Given the description of an element on the screen output the (x, y) to click on. 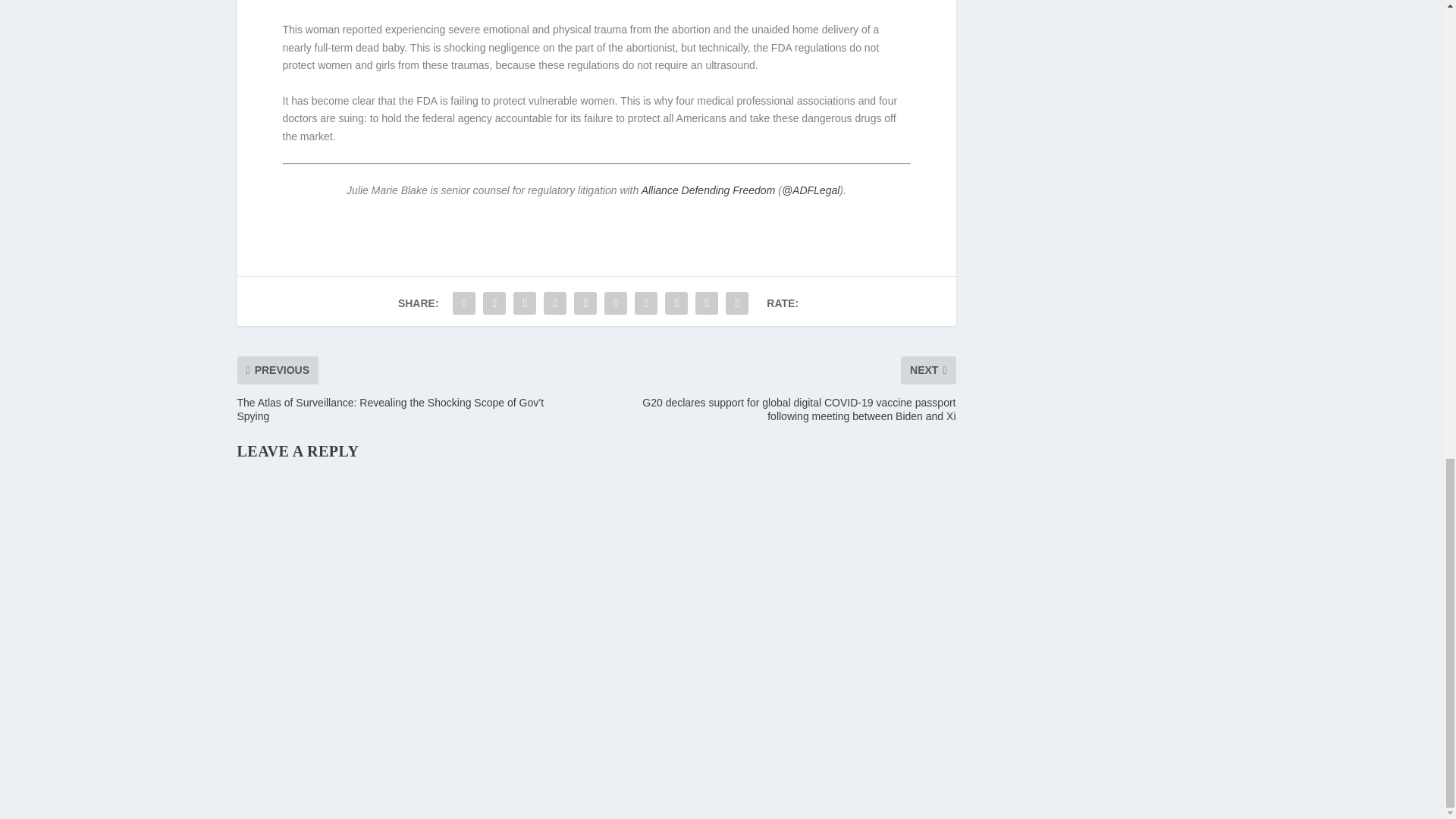
Alliance Defending Freedom (709, 190)
